Given the description of an element on the screen output the (x, y) to click on. 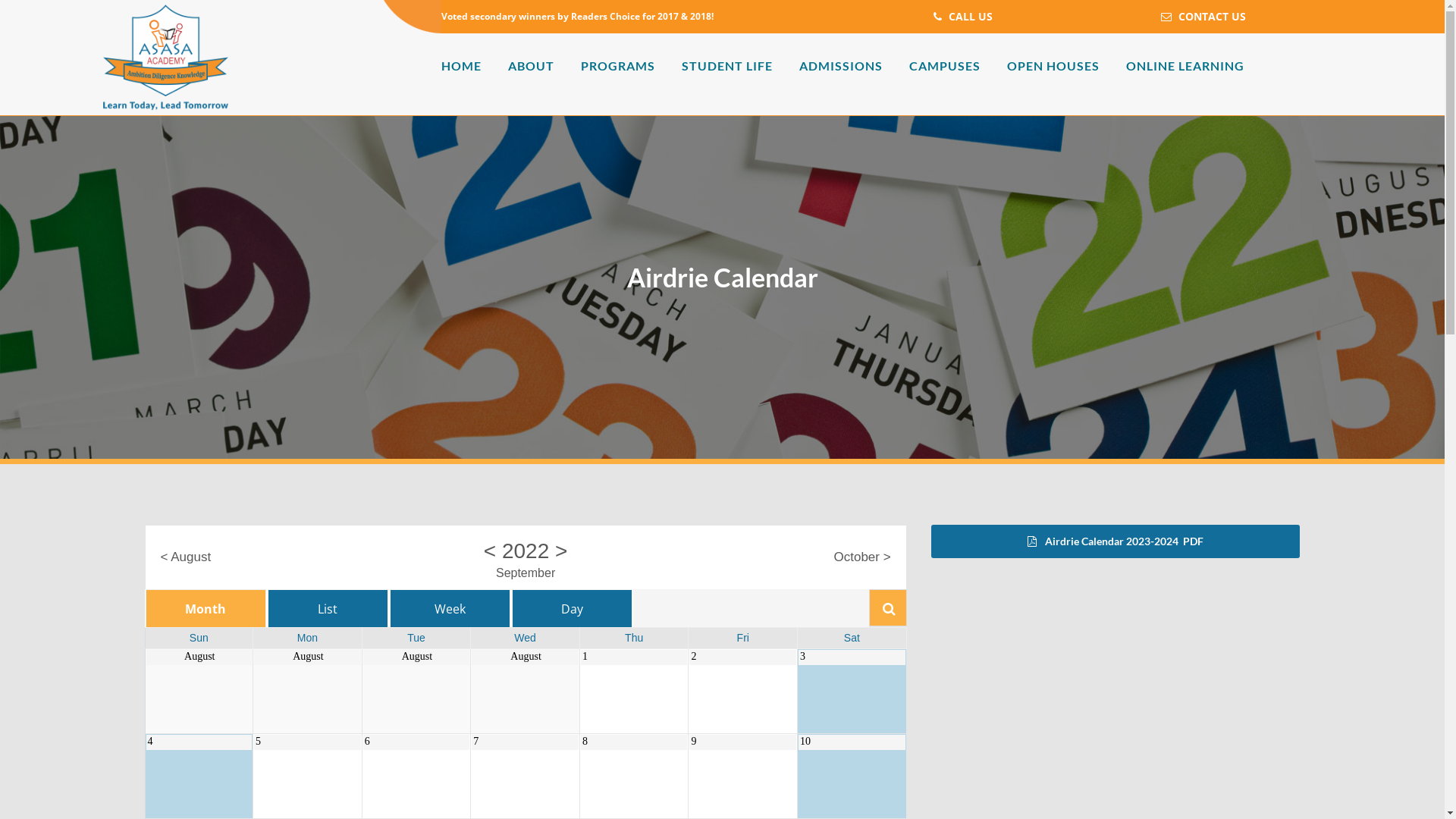
Month Element type: text (205, 608)
ASASA-LOGO@3x Element type: hover (165, 57)
CAMPUSES Element type: text (944, 65)
STUDENT LIFE Element type: text (726, 65)
ADMISSIONS Element type: text (840, 65)
ONLINE LEARNING Element type: text (1185, 65)
CONTACT US Element type: text (1203, 16)
Voted secondary winners by Readers Choice for 2017 & 2018! Element type: text (577, 15)
> Element type: text (561, 551)
ABOUT Element type: text (531, 65)
Week Element type: text (449, 608)
PROGRAMS Element type: text (617, 65)
Day Element type: text (571, 608)
< Element type: text (489, 551)
October > Element type: text (861, 557)
CALL US Element type: text (962, 16)
HOME Element type: text (461, 65)
List Element type: text (327, 608)
 Airdrie Calendar 2023-2024  PDF Element type: text (1115, 541)
< August Element type: text (185, 557)
OPEN HOUSES Element type: text (1053, 65)
